Given the description of an element on the screen output the (x, y) to click on. 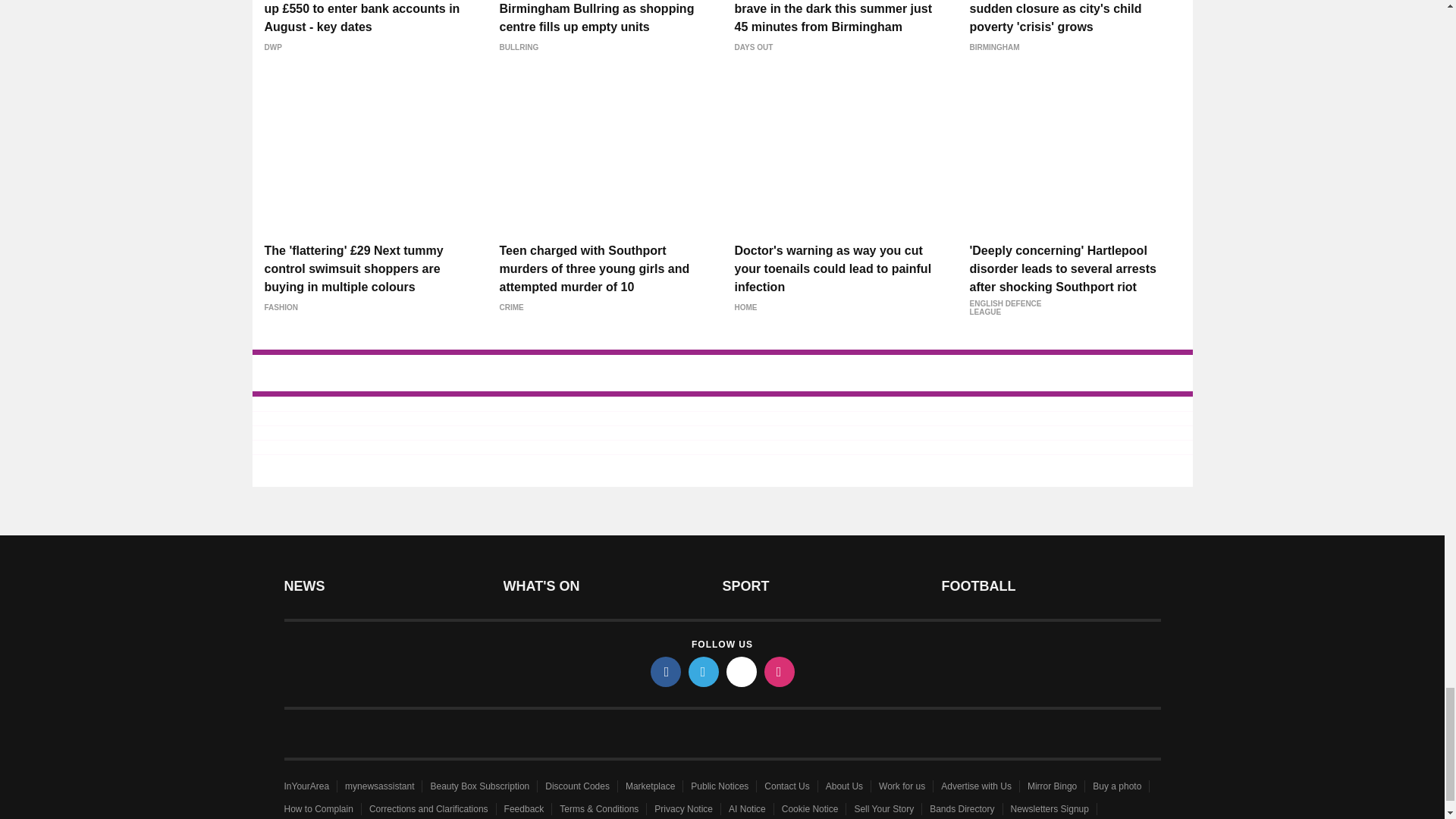
instagram (779, 671)
facebook (665, 671)
tiktok (741, 671)
twitter (703, 671)
